Given the description of an element on the screen output the (x, y) to click on. 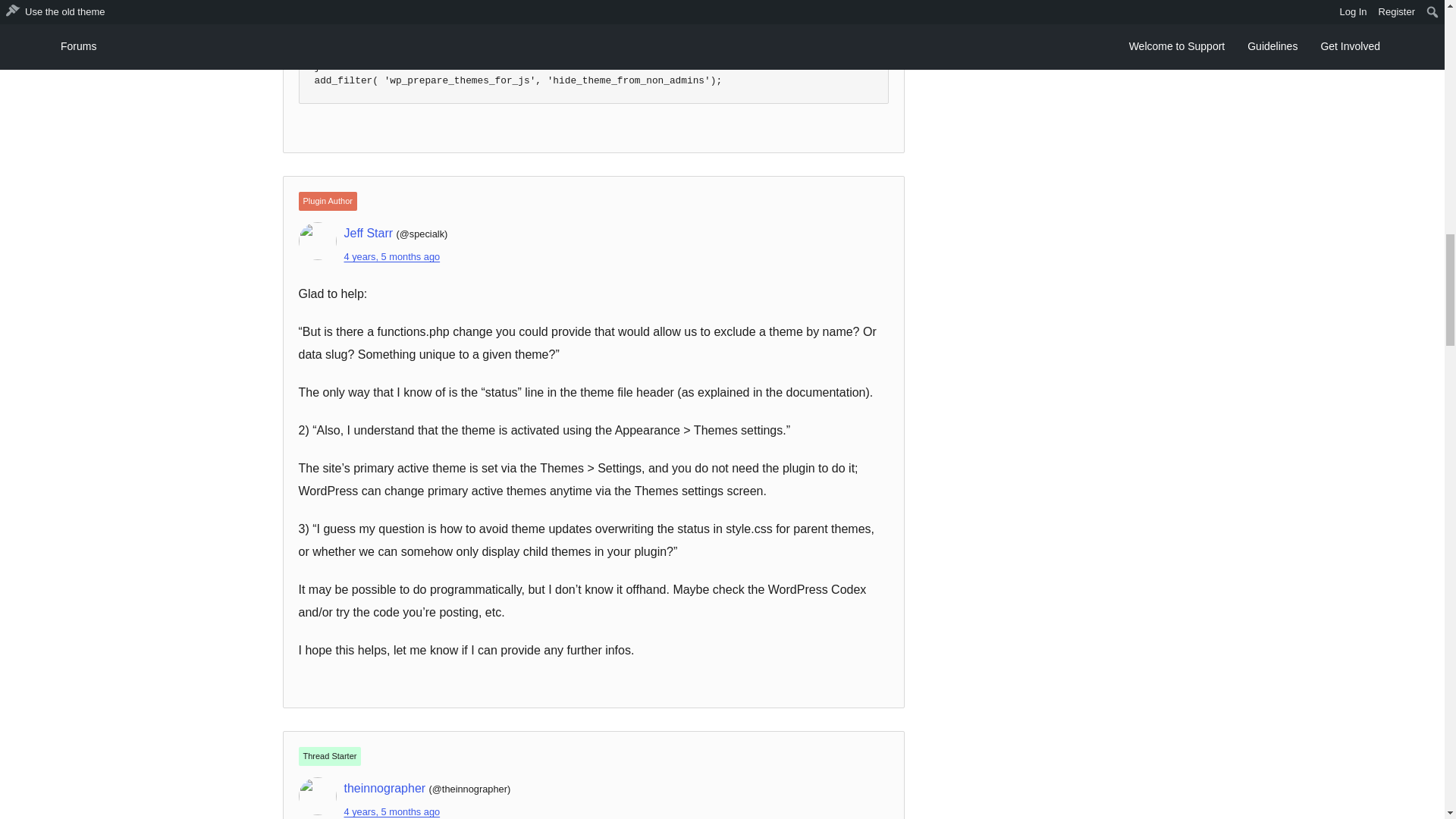
View Jeff Starr's profile (368, 232)
View theinnographer's profile (384, 788)
January 31, 2020 at 3:34 pm (392, 811)
This person created the thread (329, 755)
This person is the author of this plugin (327, 200)
January 30, 2020 at 6:04 am (392, 256)
